Given the description of an element on the screen output the (x, y) to click on. 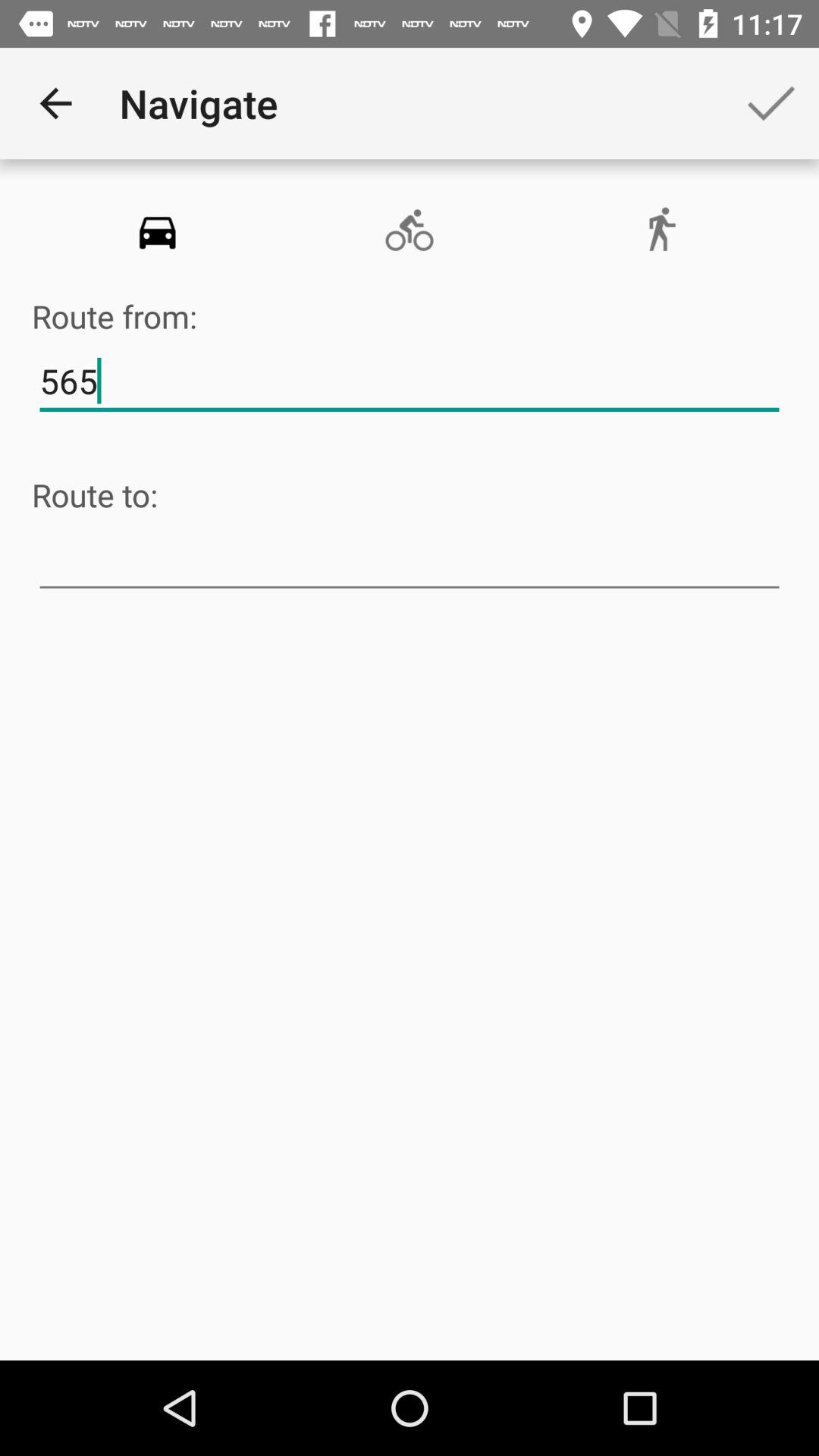
jump until 565 icon (409, 381)
